Given the description of an element on the screen output the (x, y) to click on. 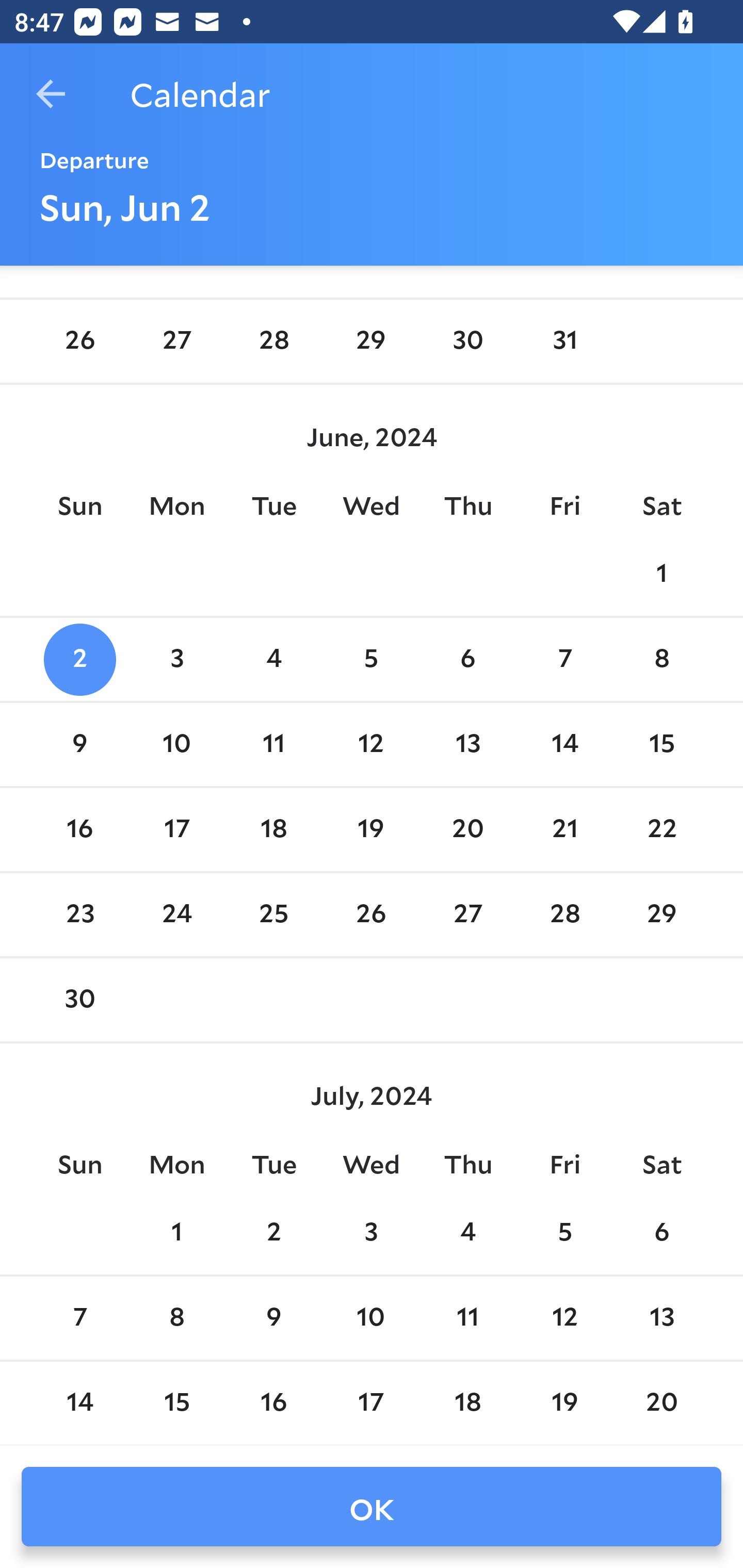
Navigate up (50, 93)
26 (79, 341)
27 (177, 341)
28 (273, 341)
29 (371, 341)
30 (467, 341)
31 (565, 341)
1 (661, 573)
2 (79, 660)
3 (177, 660)
4 (273, 660)
5 (371, 660)
6 (467, 660)
7 (565, 660)
8 (661, 660)
9 (79, 744)
10 (177, 744)
11 (273, 744)
12 (371, 744)
13 (467, 744)
14 (565, 744)
15 (661, 744)
16 (79, 829)
17 (177, 829)
18 (273, 829)
19 (371, 829)
20 (467, 829)
21 (565, 829)
22 (661, 829)
23 (79, 915)
24 (177, 915)
25 (273, 915)
26 (371, 915)
27 (467, 915)
28 (565, 915)
29 (661, 915)
30 (79, 1000)
1 (177, 1233)
2 (273, 1233)
3 (371, 1233)
4 (467, 1233)
5 (565, 1233)
6 (661, 1233)
7 (79, 1318)
8 (177, 1318)
9 (273, 1318)
10 (371, 1318)
11 (467, 1318)
12 (565, 1318)
13 (661, 1318)
14 (79, 1403)
15 (177, 1403)
16 (273, 1403)
17 (371, 1403)
18 (467, 1403)
19 (565, 1403)
20 (661, 1403)
OK (371, 1506)
